Given the description of an element on the screen output the (x, y) to click on. 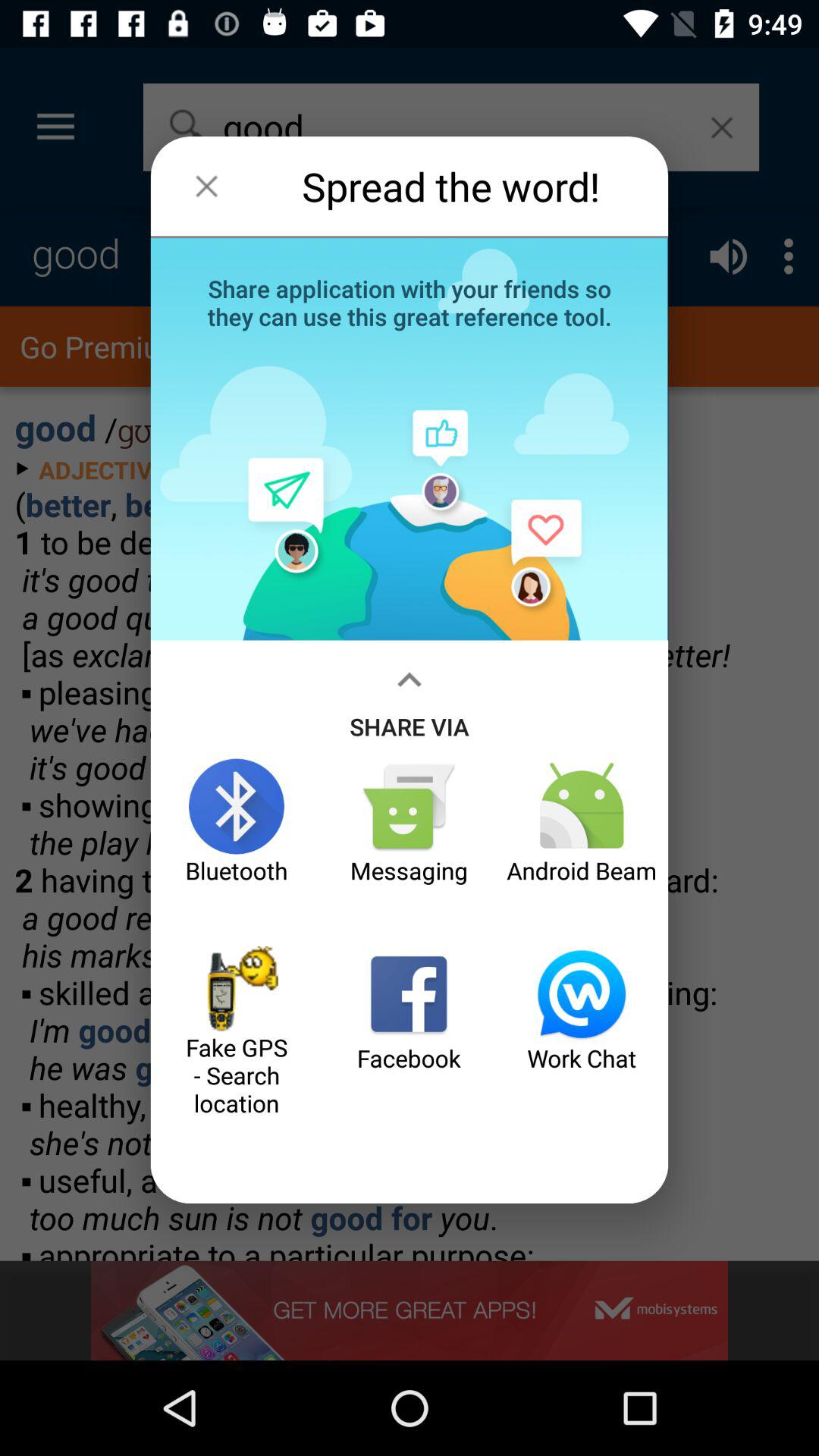
jump until share application with (409, 301)
